Given the description of an element on the screen output the (x, y) to click on. 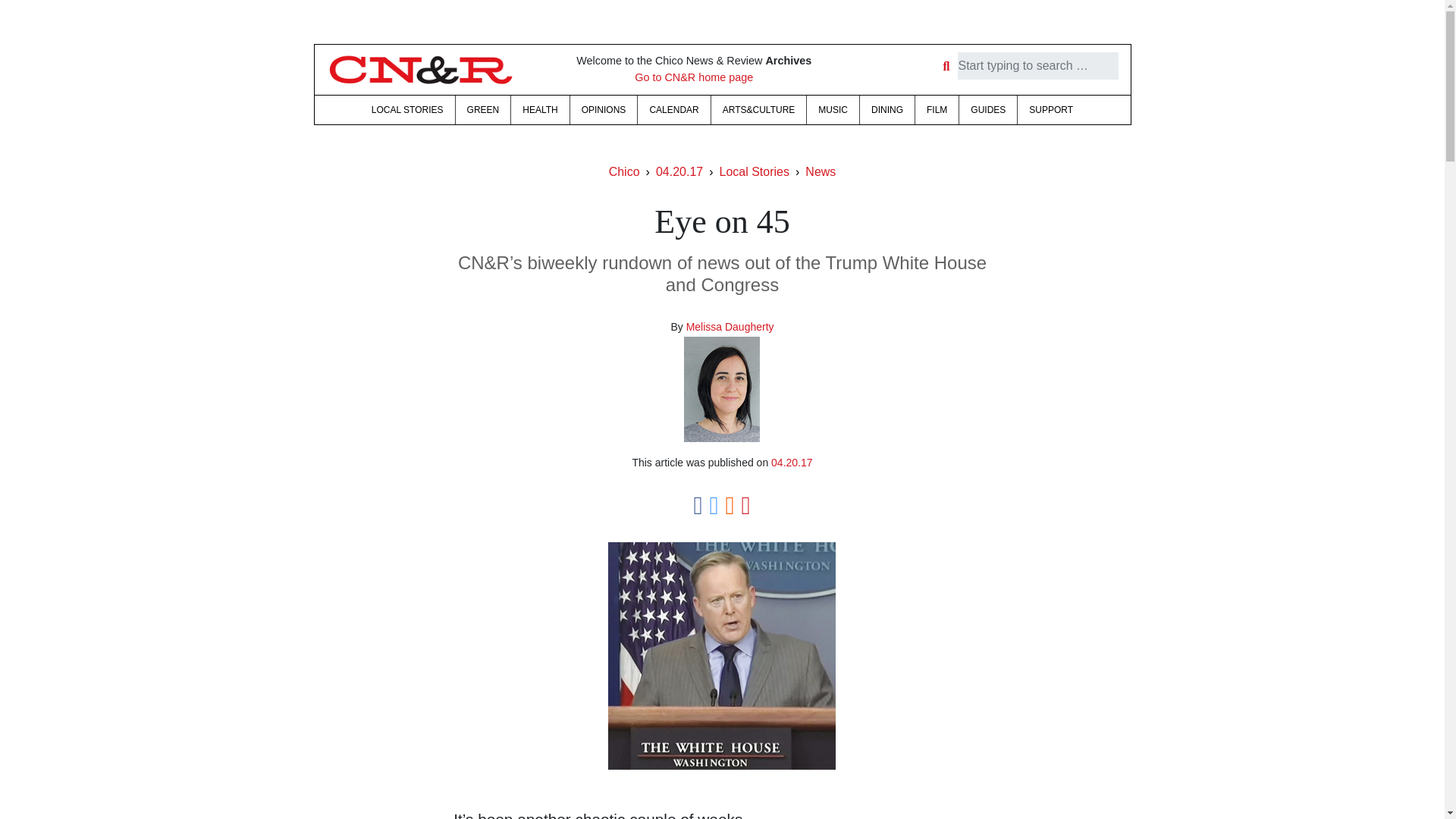
GUIDES (987, 109)
Melissa Daugherty (729, 326)
04.20.17 (791, 462)
SUPPORT (1050, 109)
Local Stories (754, 171)
Chico (624, 171)
04.20.17 (679, 171)
LOCAL STORIES (406, 109)
GREEN (483, 109)
HEALTH (540, 109)
